Given the description of an element on the screen output the (x, y) to click on. 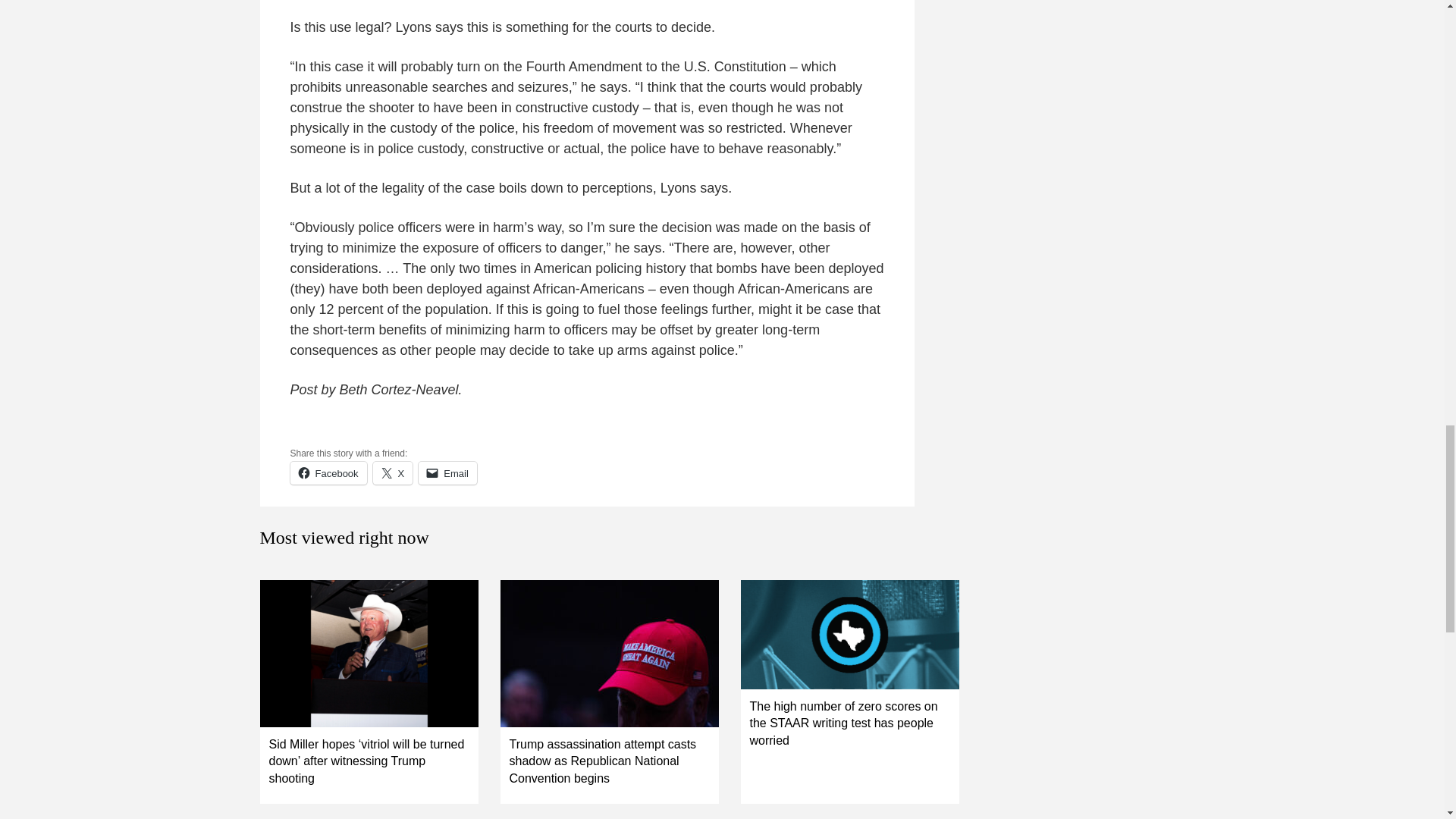
Click to email a link to a friend (448, 472)
Click to share on X (392, 472)
Click to share on Facebook (327, 472)
